Given the description of an element on the screen output the (x, y) to click on. 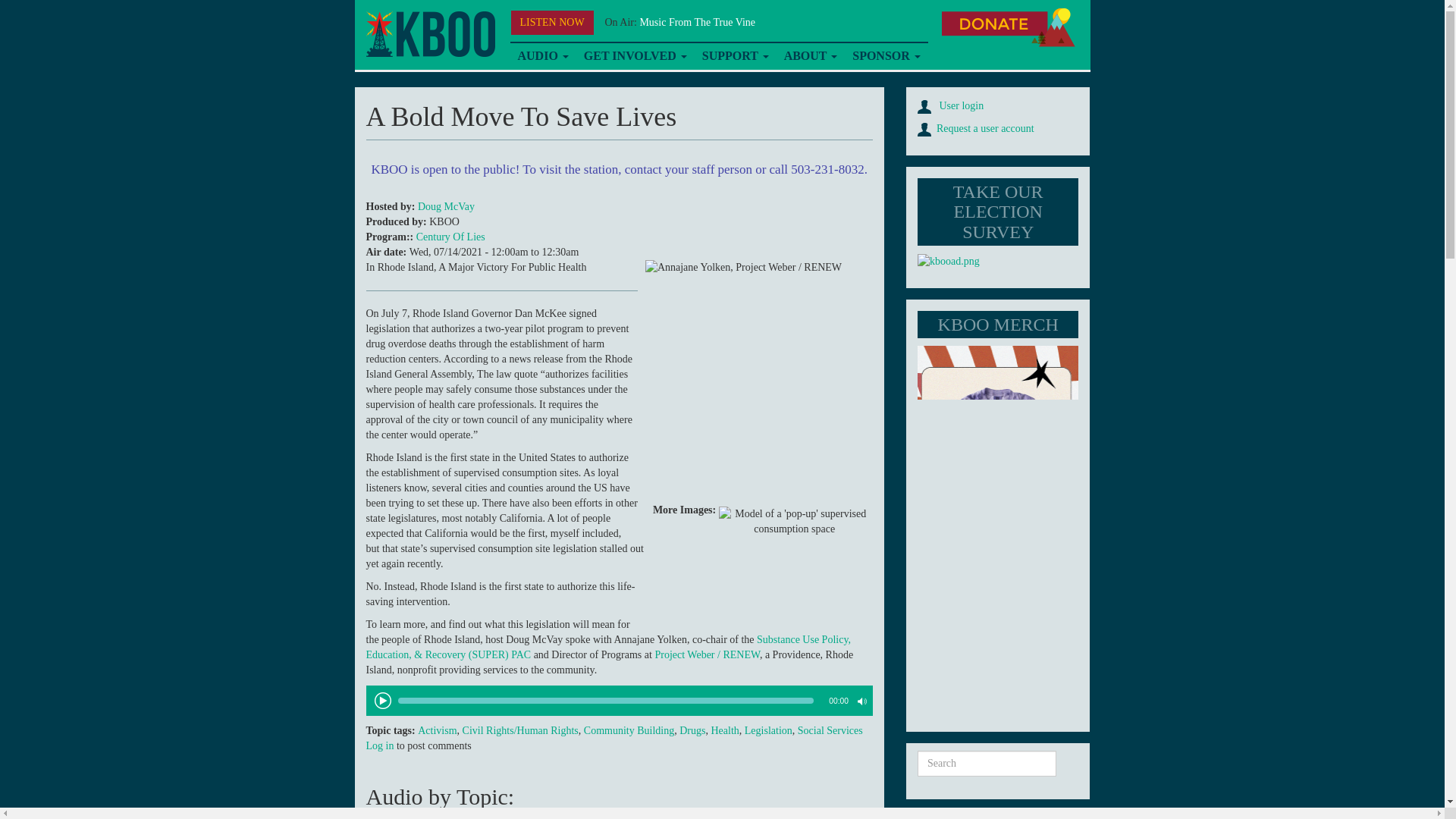
Music From The True Vine (697, 21)
Home (430, 34)
GET INVOLVED (635, 55)
LISTEN NOW (551, 22)
SUPPORT (735, 55)
ABOUT (810, 55)
AUDIO (542, 55)
